Given the description of an element on the screen output the (x, y) to click on. 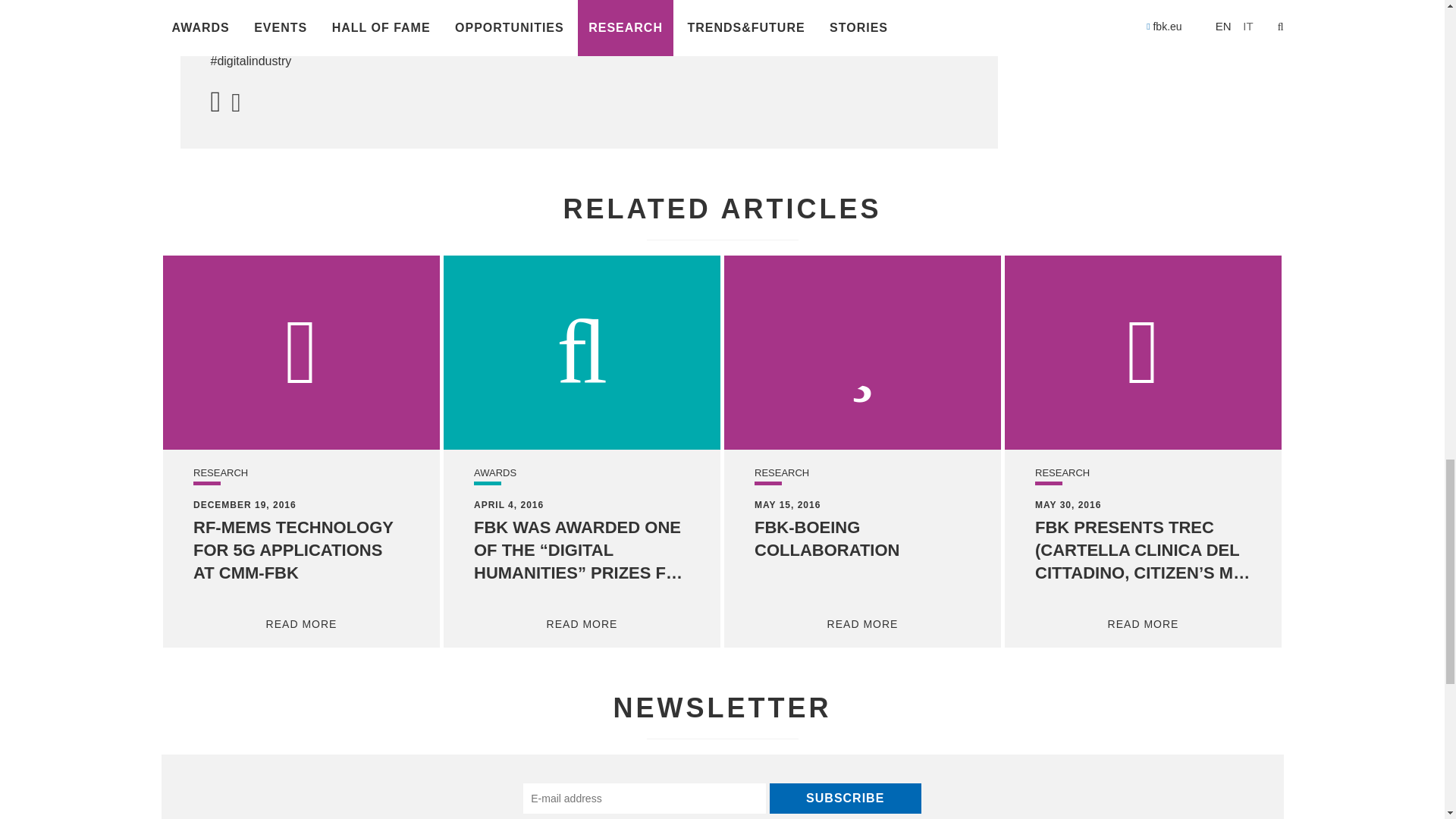
SUBSCRIBE (845, 797)
